Given the description of an element on the screen output the (x, y) to click on. 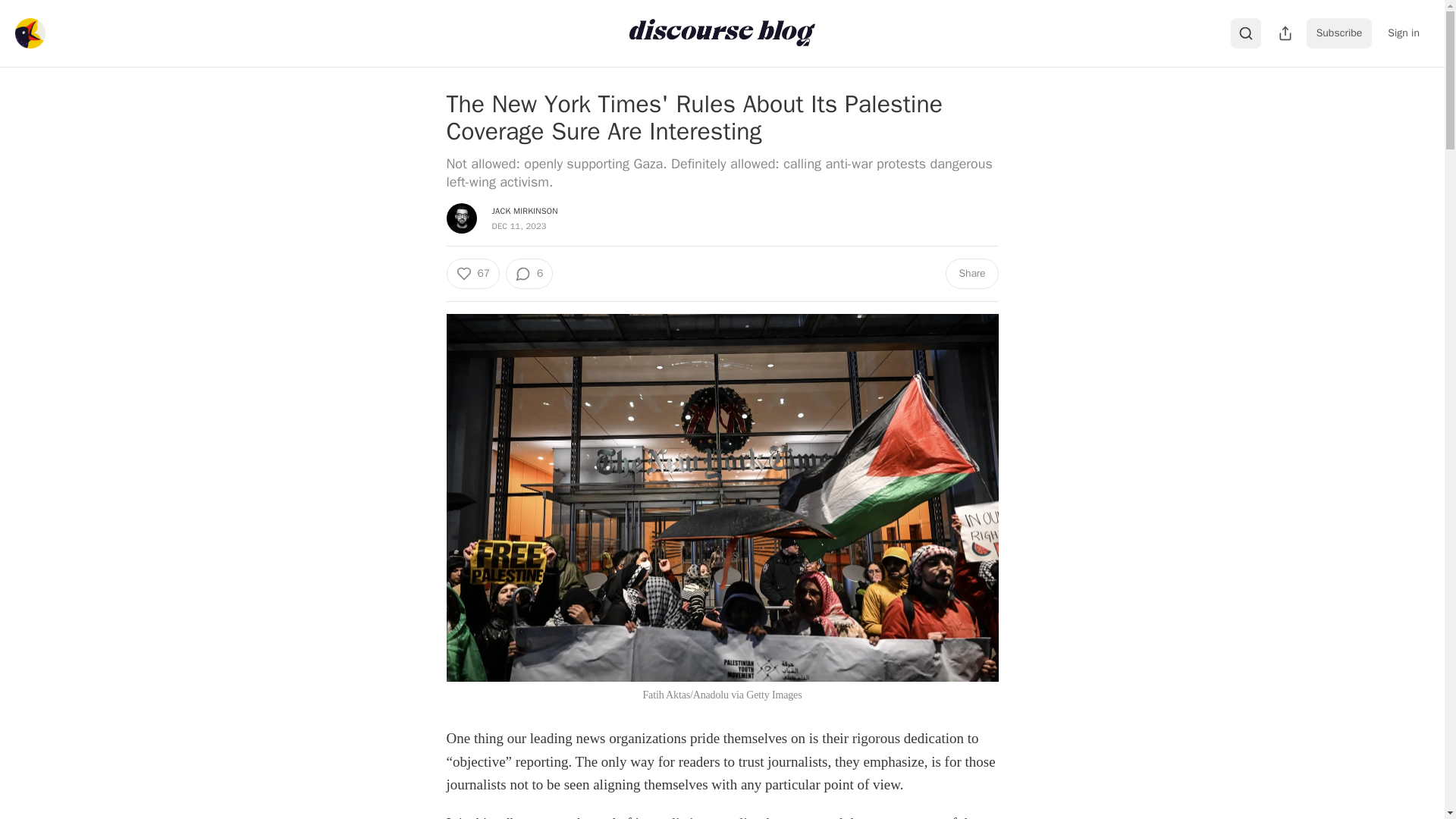
Share (970, 273)
67 (472, 273)
Subscribe (1339, 33)
Sign in (1403, 33)
6 (529, 273)
JACK MIRKINSON (524, 210)
